Given the description of an element on the screen output the (x, y) to click on. 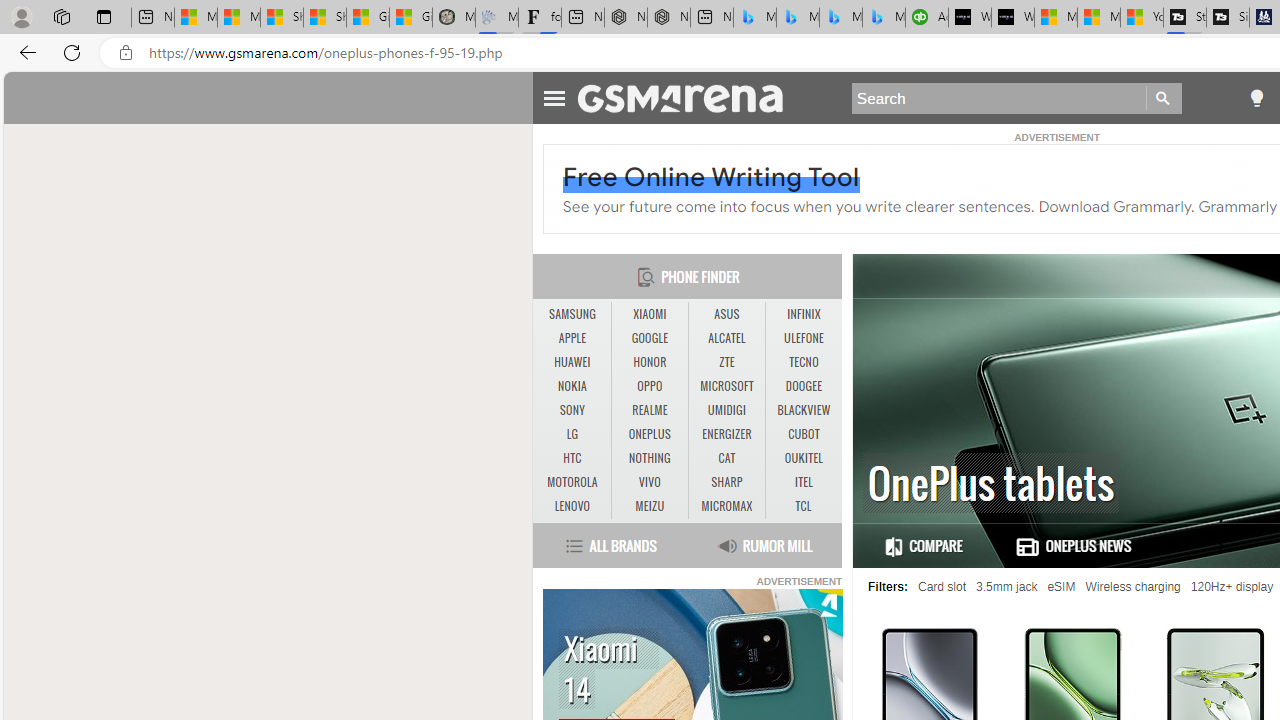
120Hz+ display (1231, 587)
Go (1163, 97)
OUKITEL (803, 457)
TCL (802, 506)
MOTOROLA (571, 483)
LENOVO (571, 506)
NOTHING (649, 457)
DOOGEE (803, 386)
SAMSUNG (571, 314)
